Given the description of an element on the screen output the (x, y) to click on. 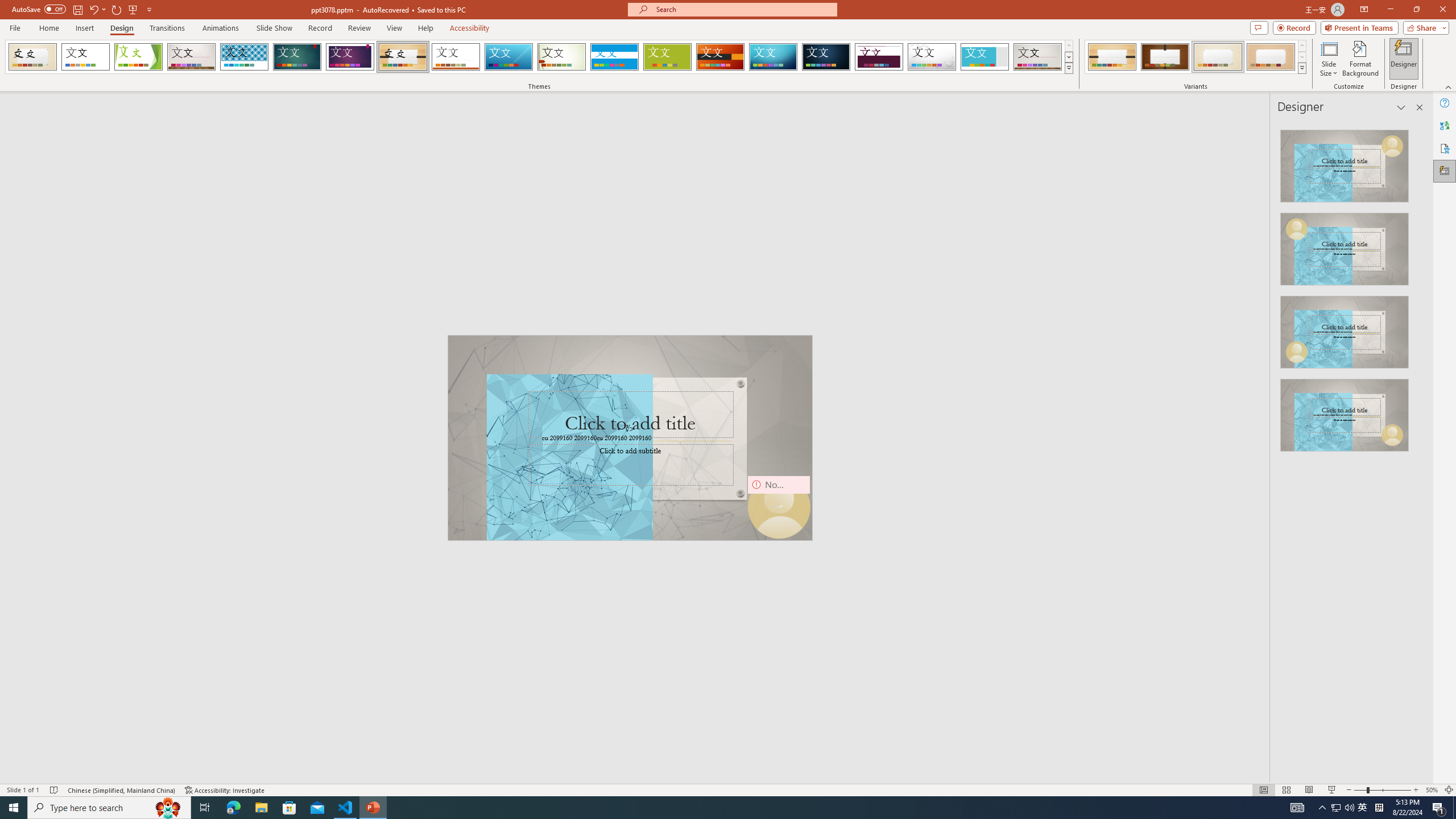
Organic Variant 3 (1217, 56)
Integral (244, 56)
Camera 9, No camera detected. (778, 506)
Office Theme (85, 56)
